Given the description of an element on the screen output the (x, y) to click on. 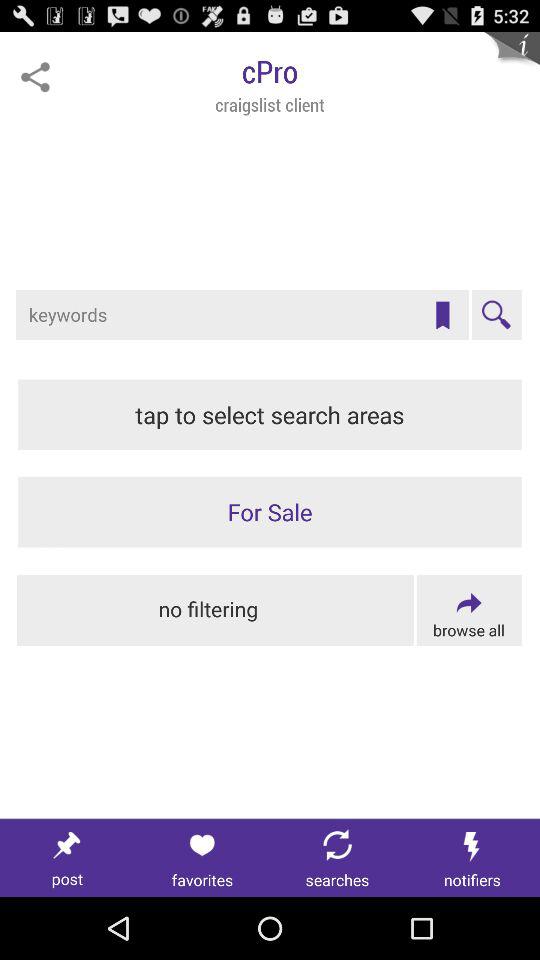
search button (496, 315)
